Given the description of an element on the screen output the (x, y) to click on. 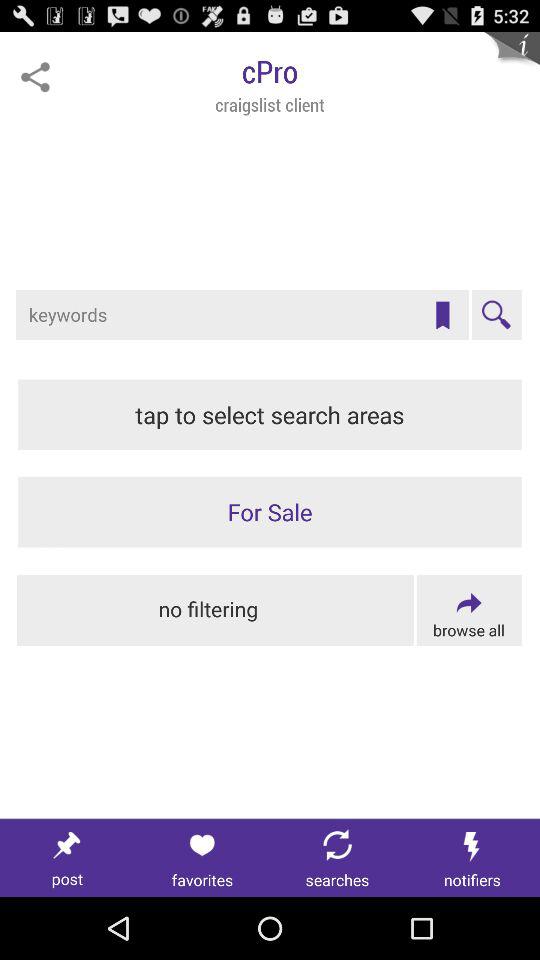
search button (496, 315)
